Given the description of an element on the screen output the (x, y) to click on. 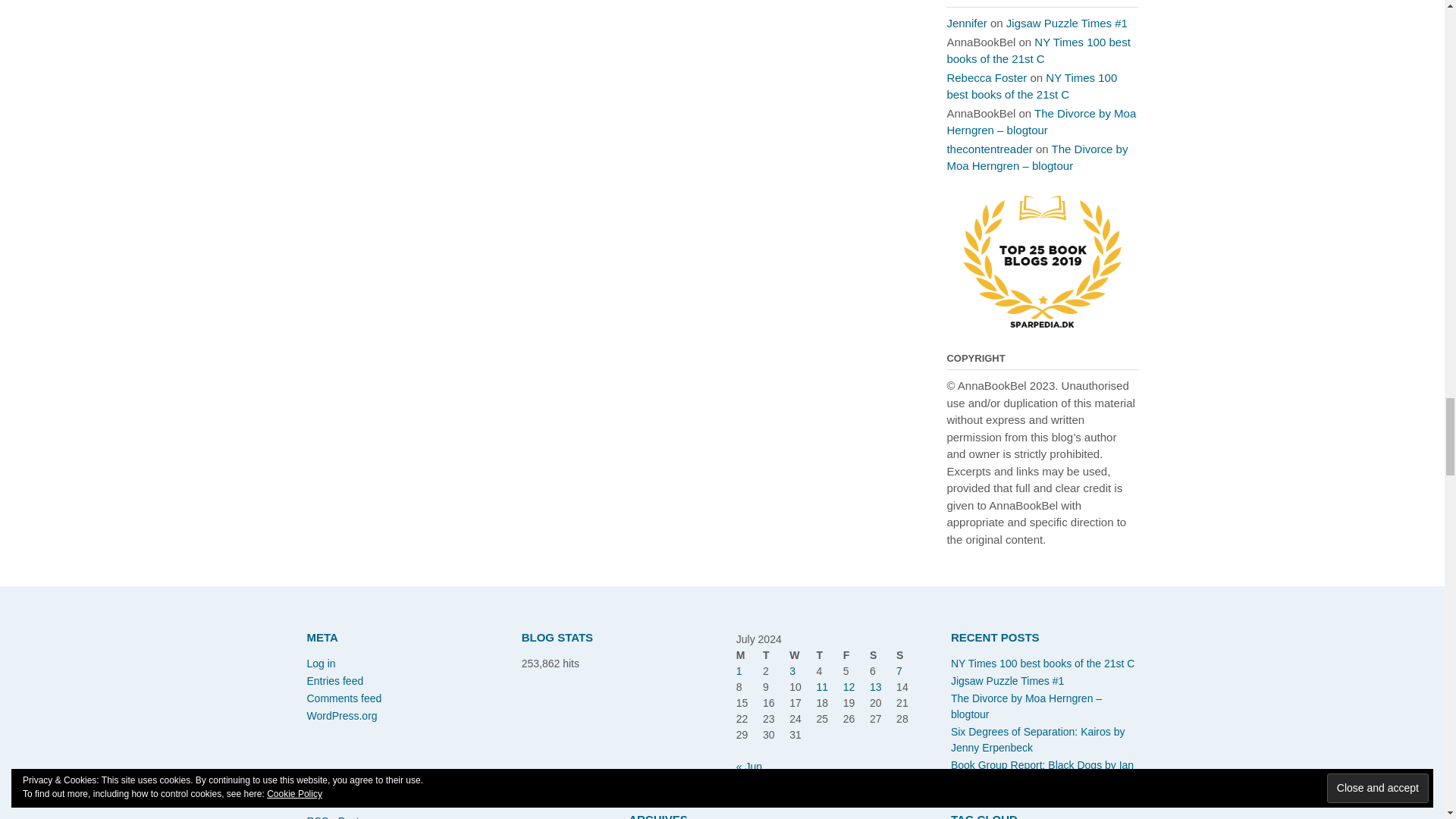
Monday (749, 655)
Banners for Top 25 Book Blogs 2019 (1041, 324)
Thursday (829, 655)
Wednesday (802, 655)
Tuesday (775, 655)
Comment Form (608, 100)
